Given the description of an element on the screen output the (x, y) to click on. 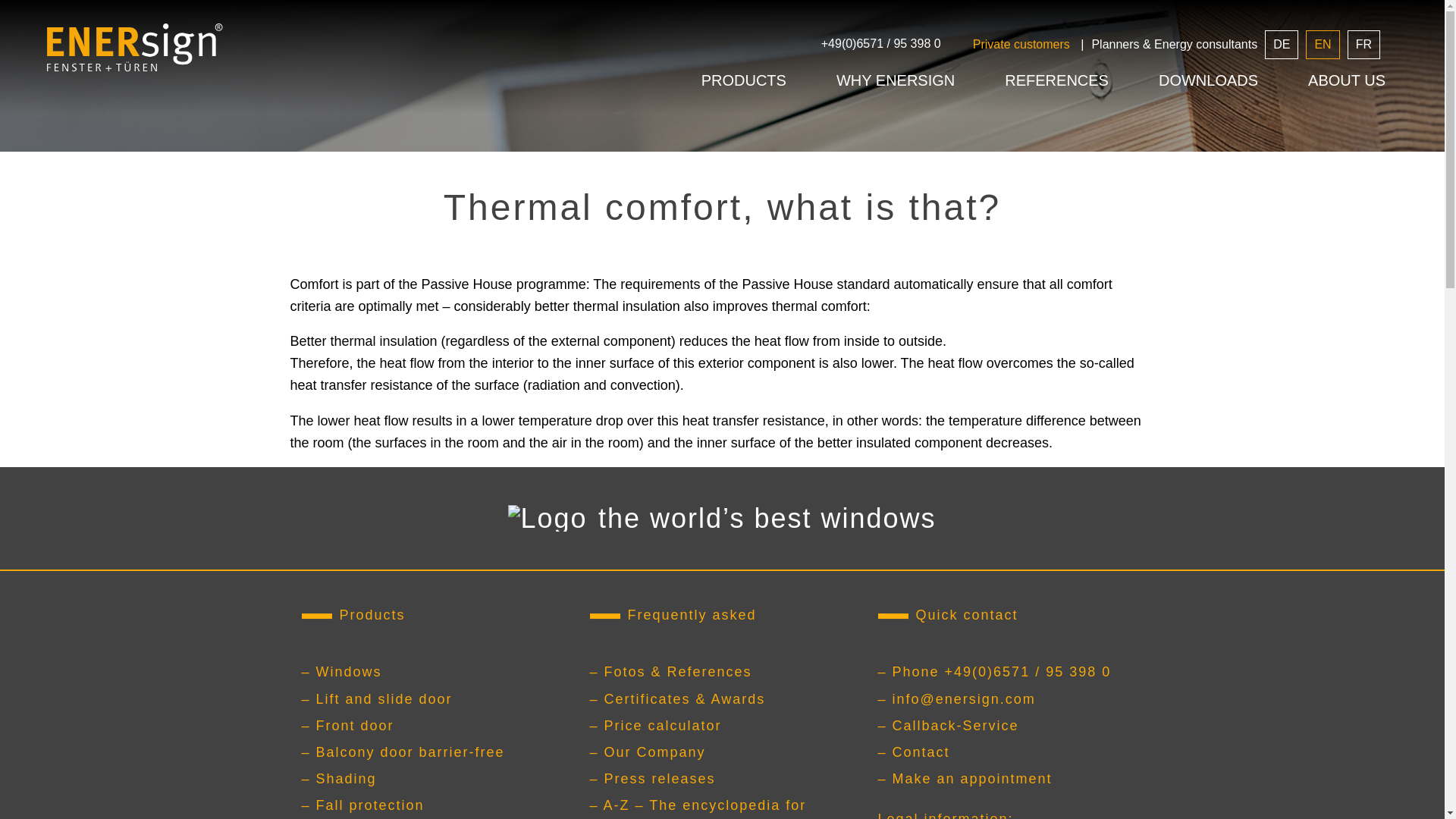
Logo (134, 47)
PRODUCTS (743, 80)
DE (1281, 44)
REFERENCES (1056, 80)
WHY ENERSIGN (895, 80)
FR (1364, 44)
DOWNLOADS (1207, 80)
ABOUT US (1346, 80)
Private customers (1017, 43)
EN (1322, 44)
